Given the description of an element on the screen output the (x, y) to click on. 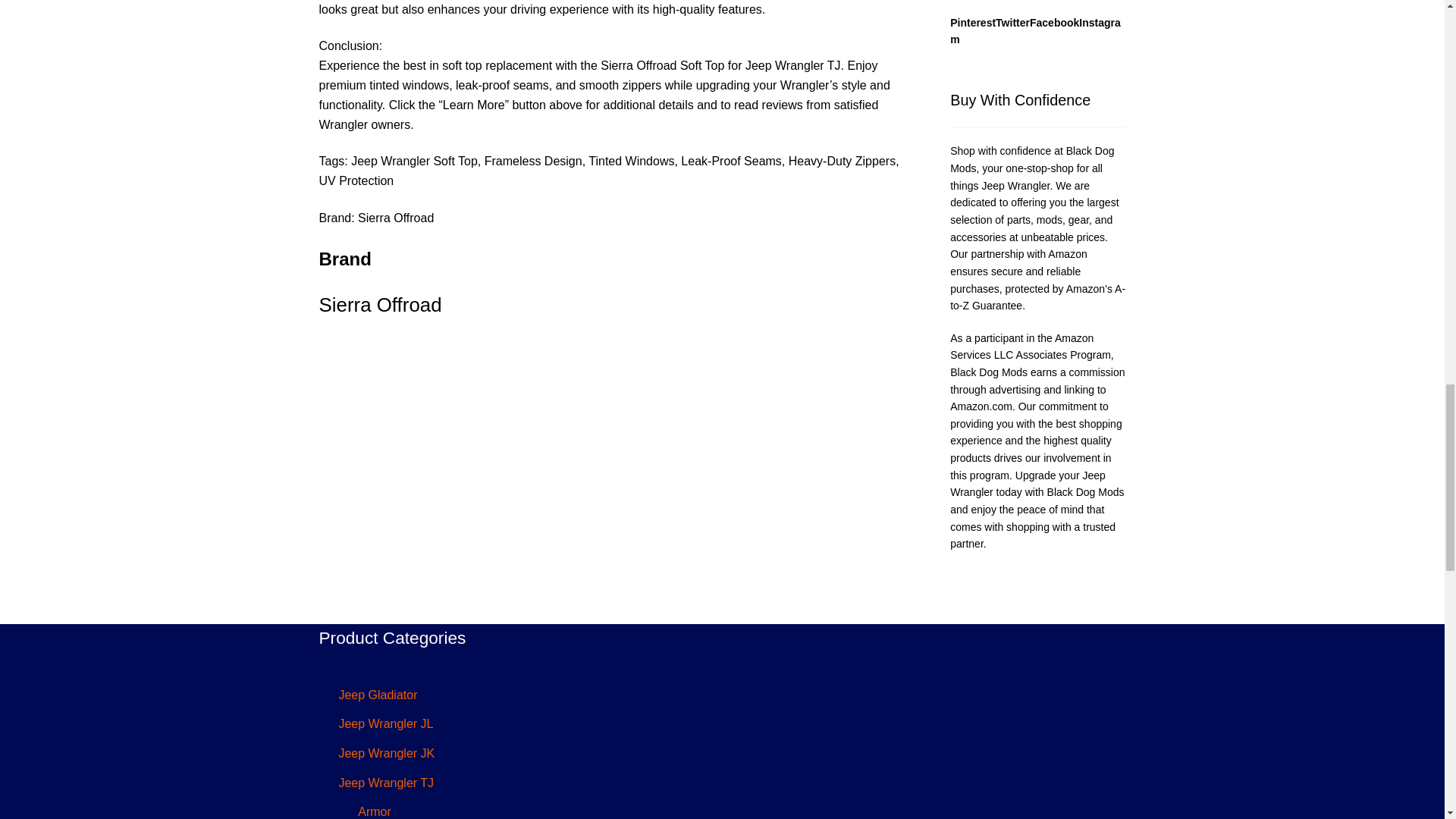
Pinterest (972, 22)
Twitter (1012, 22)
Facebook (1053, 22)
Instagram (1035, 30)
